Given the description of an element on the screen output the (x, y) to click on. 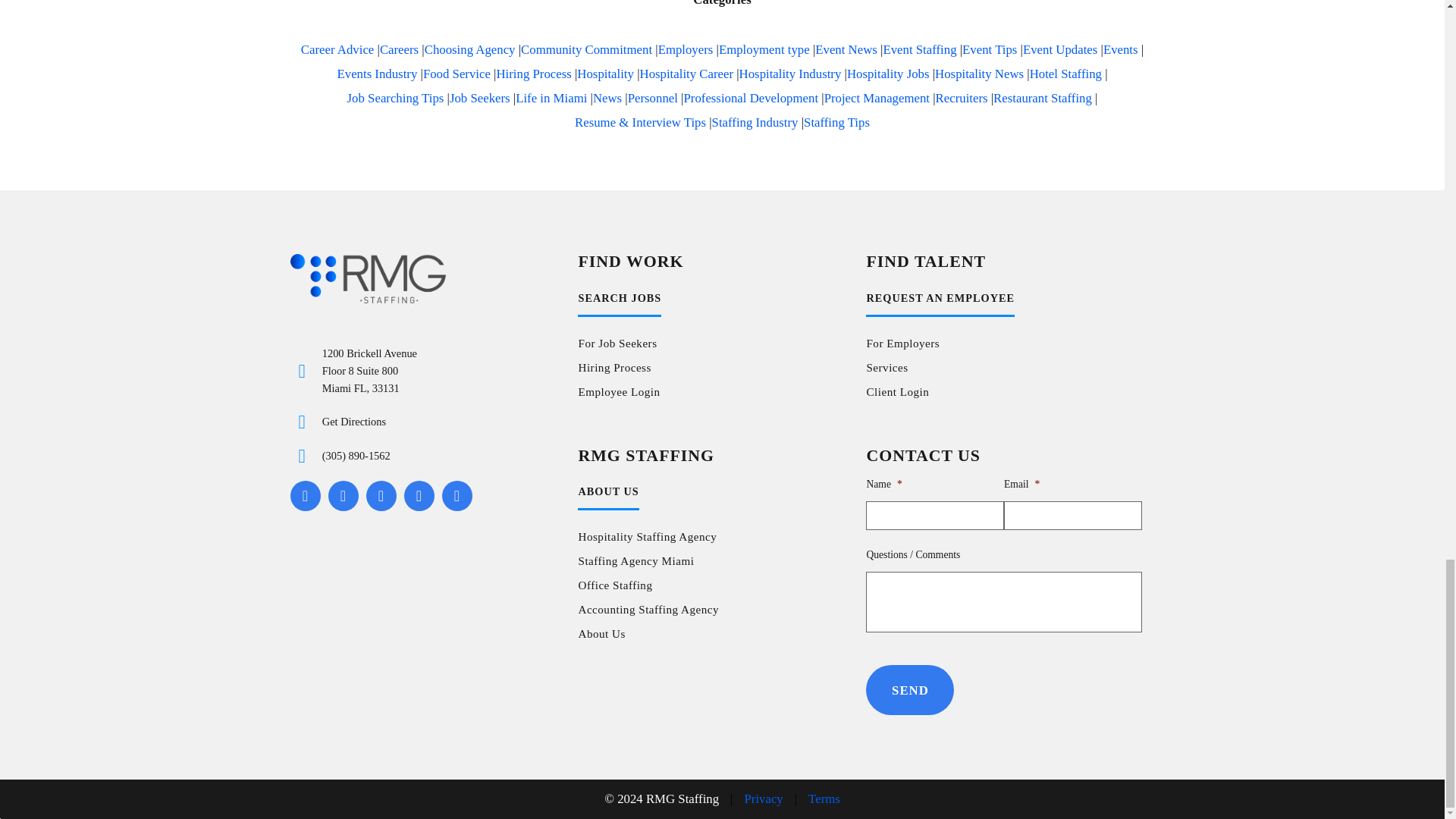
Send (909, 689)
